Given the description of an element on the screen output the (x, y) to click on. 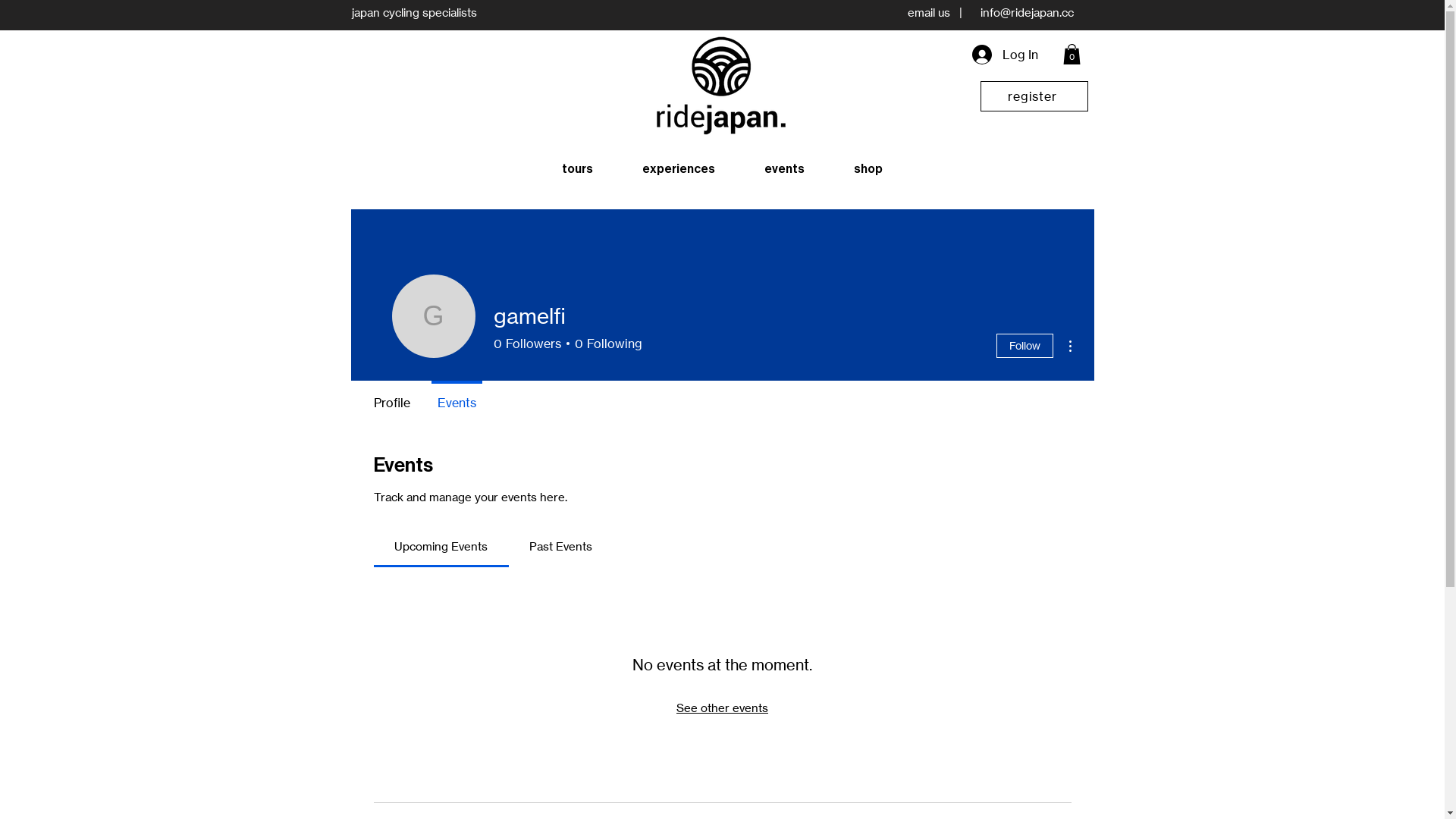
tours Element type: text (577, 169)
Profile Element type: text (391, 395)
Follow Element type: text (1024, 345)
See other events Element type: text (722, 707)
japan cycling specialists Element type: text (413, 12)
0 Element type: text (1071, 53)
0
Followers Element type: text (526, 343)
Events Element type: text (456, 395)
info@ridejapan.cc Element type: text (1026, 12)
register Element type: text (1033, 96)
events Element type: text (784, 169)
shop Element type: text (868, 169)
experiences Element type: text (678, 169)
0
Following Element type: text (604, 343)
Log In Element type: text (1004, 54)
